Given the description of an element on the screen output the (x, y) to click on. 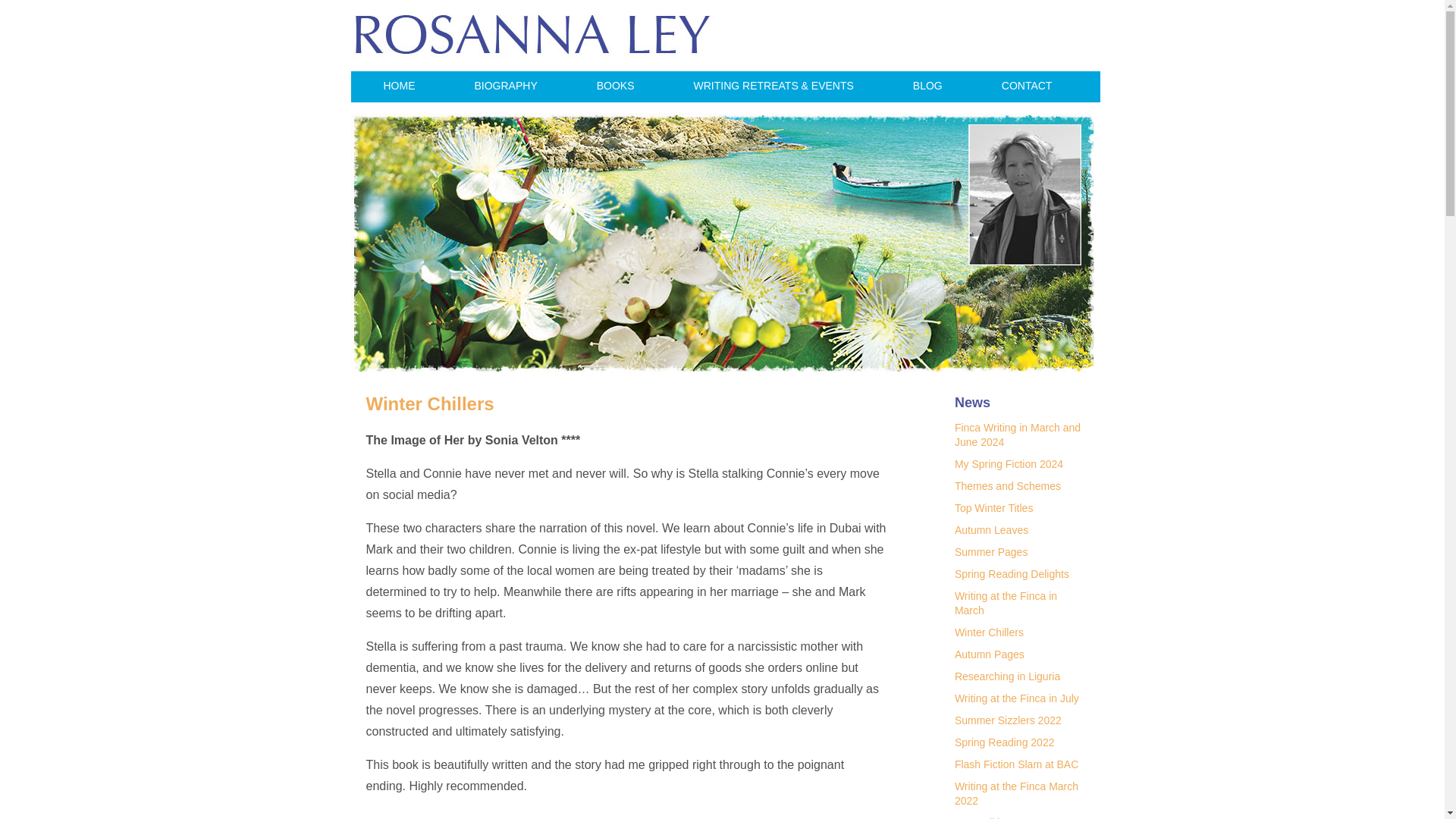
Flash Fiction Slam at BAC (1016, 764)
HOME (399, 85)
BLOG (927, 85)
Themes and Schemes (1008, 485)
Summer Sizzlers 2022 (1008, 720)
Writing at the Finca in July (1016, 698)
Writing at the Finca March 2022 (1016, 793)
My Spring Fiction 2024 (1008, 463)
Summer Pages (991, 551)
CONTACT (1026, 85)
Autumn Leaves (991, 530)
Finca Writing in March and June 2024 (1017, 434)
Winter Chillers (989, 632)
BIOGRAPHY (505, 85)
BOOKS (615, 85)
